Given the description of an element on the screen output the (x, y) to click on. 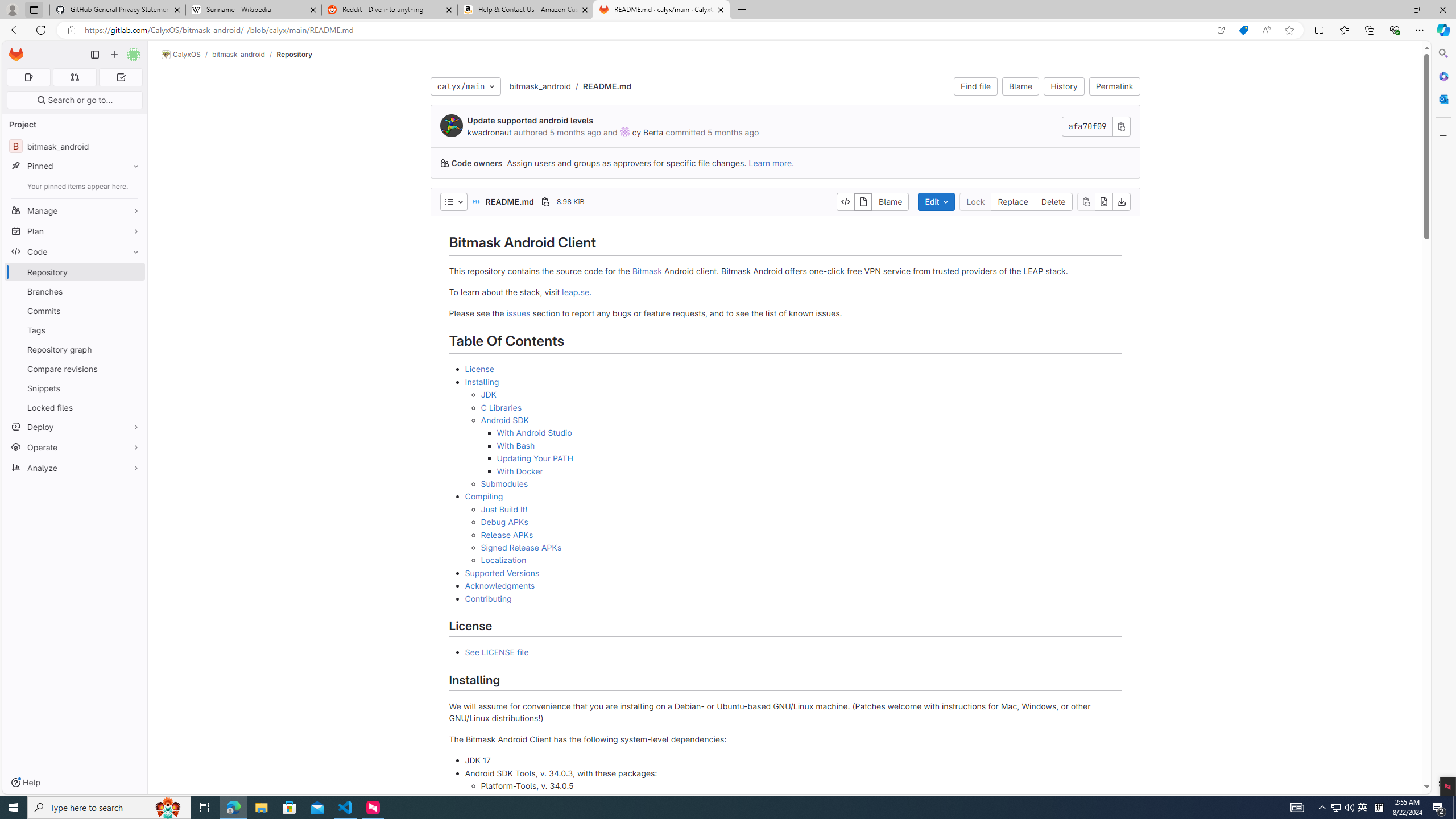
Just Build It! (800, 509)
Commits (74, 310)
Release APKs (800, 534)
With Docker (808, 470)
Repository graph (74, 348)
License (792, 368)
Acknowledgments (499, 585)
Contributing (488, 597)
Bbitmask_android (74, 145)
JDK (800, 394)
